Given the description of an element on the screen output the (x, y) to click on. 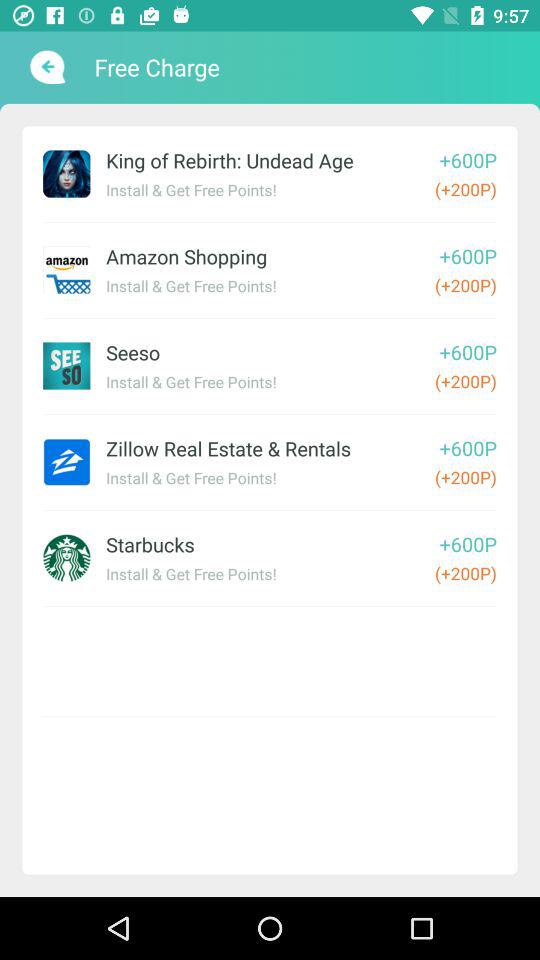
press the icon next to free charge item (45, 67)
